Given the description of an element on the screen output the (x, y) to click on. 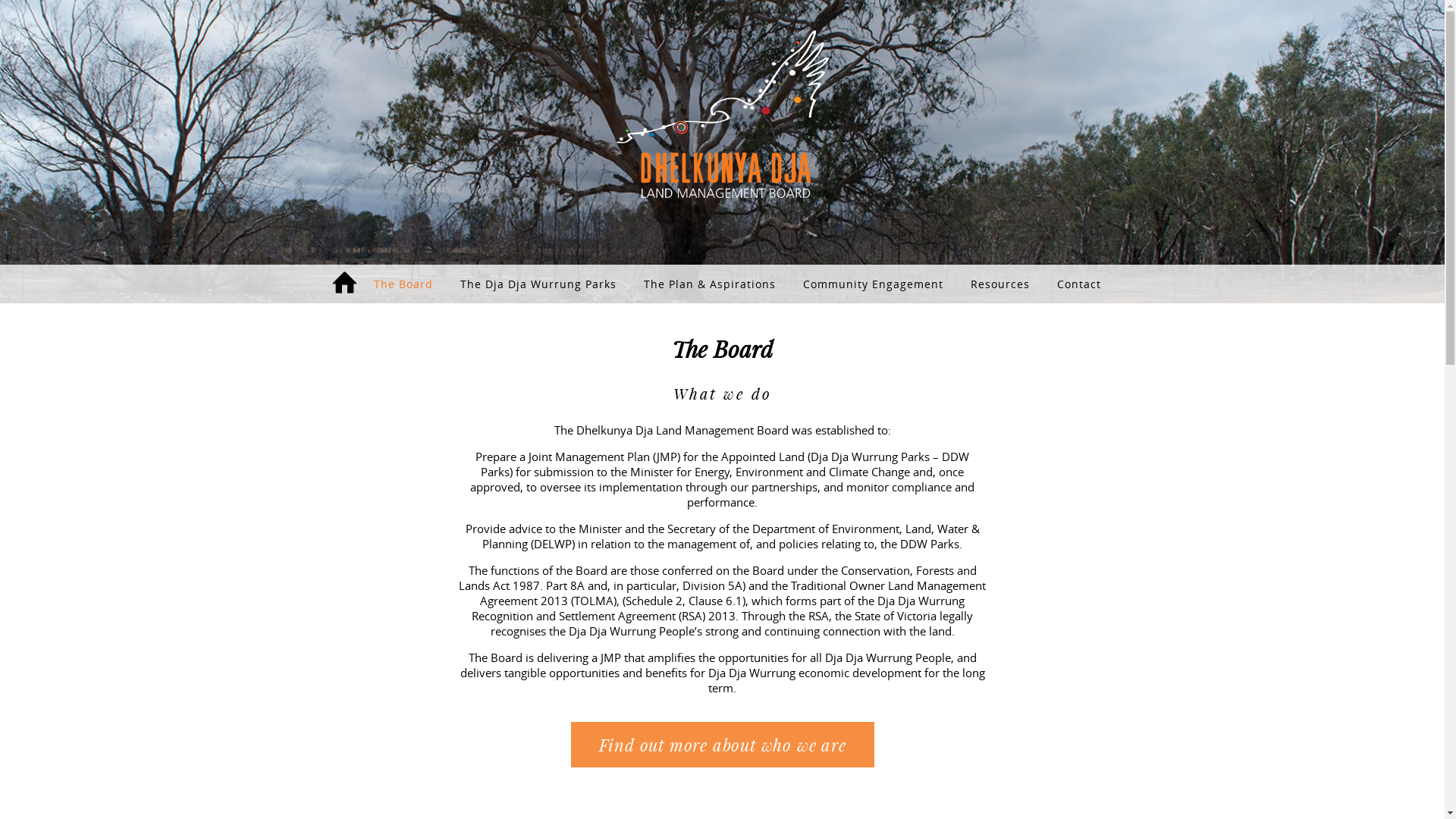
Resources Element type: text (999, 283)
Community Engagement Element type: text (873, 283)
Dhelkunya Dja Element type: text (721, 115)
The Dja Dja Wurrung Parks Element type: text (538, 283)
Find out more about who we are Element type: text (722, 744)
Contact Element type: text (1079, 283)
The Board Element type: text (403, 283)
The Plan & Aspirations Element type: text (709, 283)
